Given the description of an element on the screen output the (x, y) to click on. 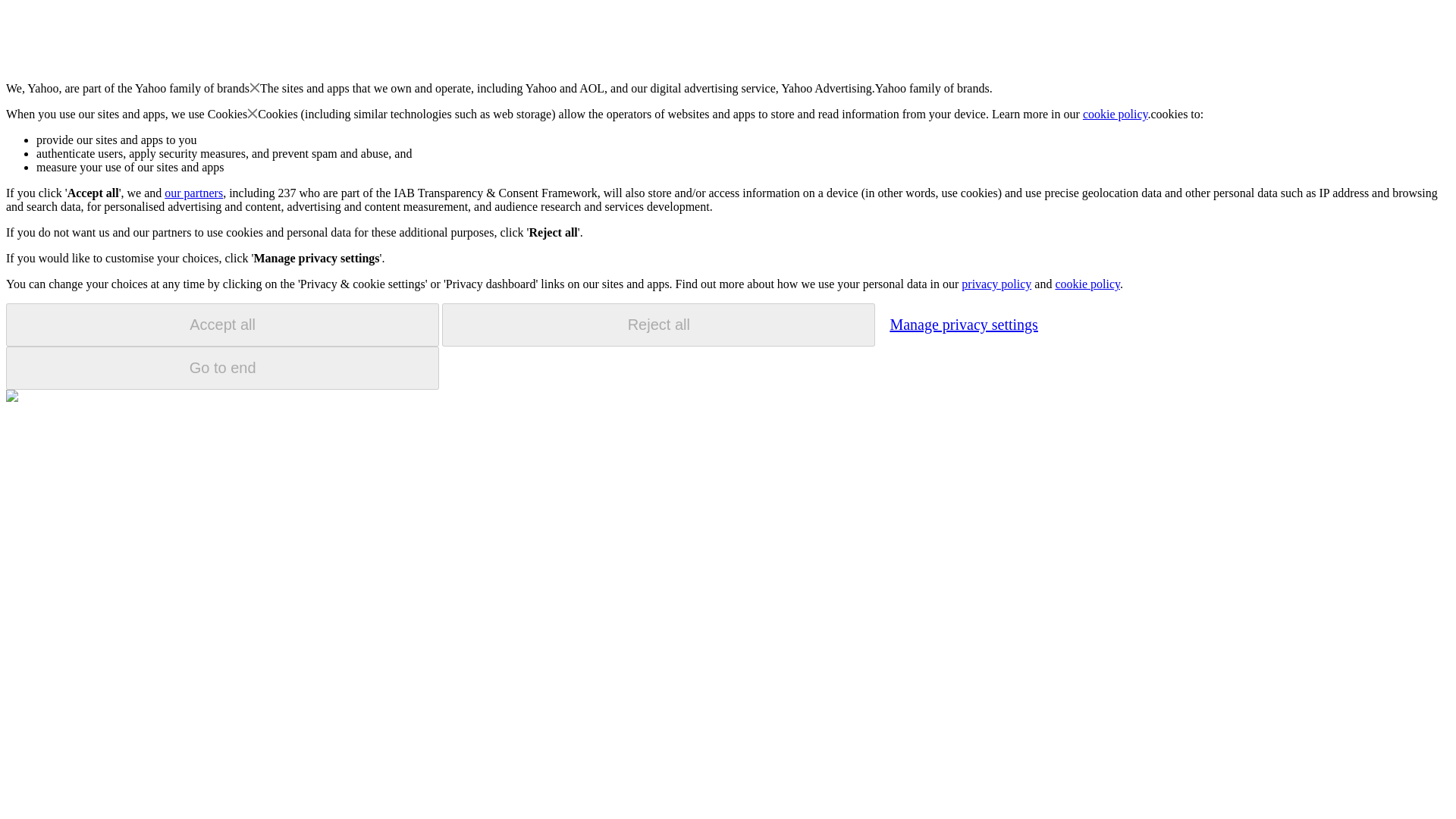
our partners (193, 192)
privacy policy (995, 283)
Go to end (222, 367)
cookie policy (1115, 113)
cookie policy (1086, 283)
Manage privacy settings (963, 323)
Reject all (658, 324)
Accept all (222, 324)
